Given the description of an element on the screen output the (x, y) to click on. 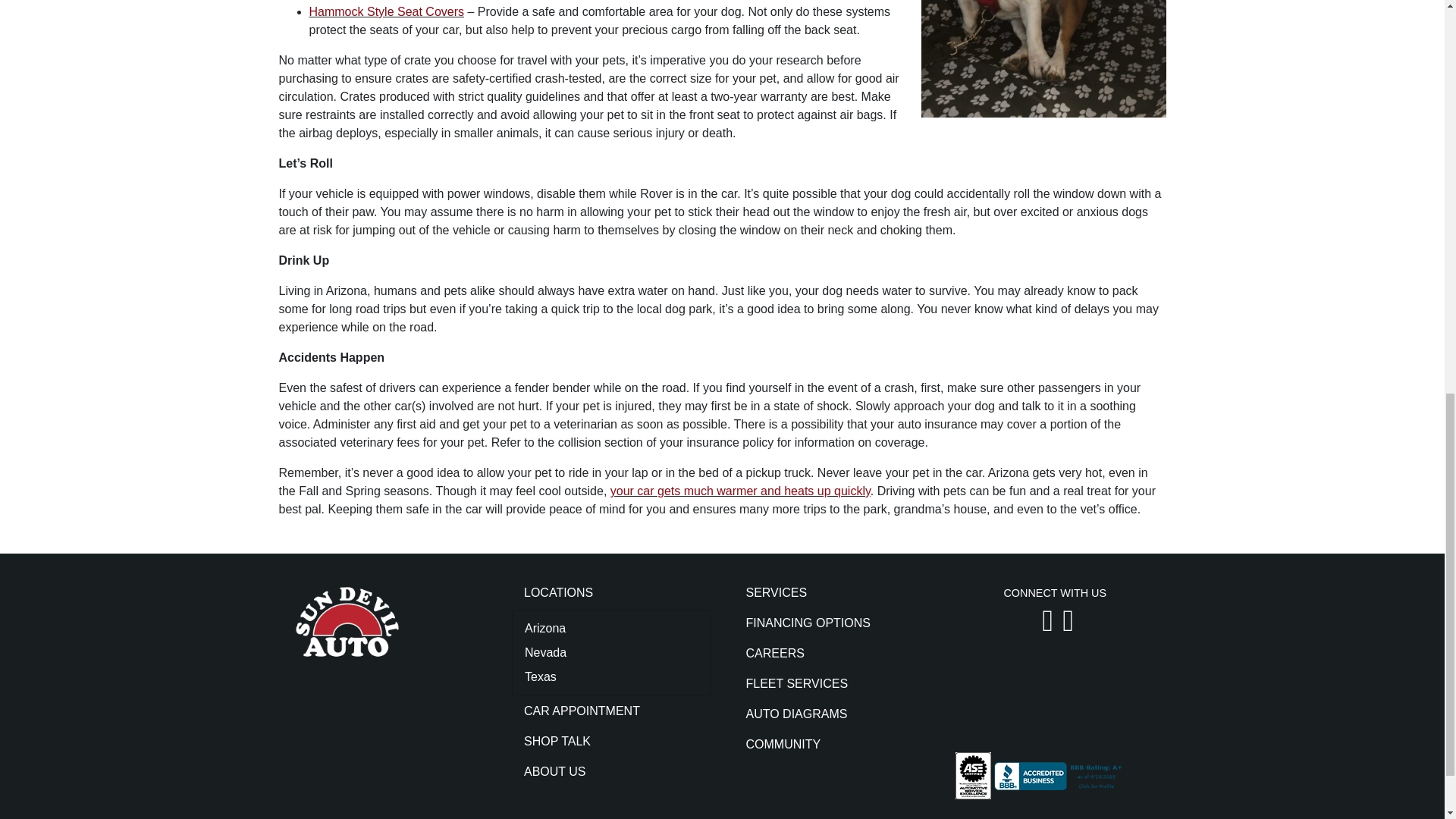
About Us (611, 771)
FINANCING OPTIONS (833, 623)
LOCATIONS (611, 593)
Hammock Style Seat Covers (386, 11)
Shop Talk (611, 741)
CAR APPOINTMENT (611, 711)
ABOUT US (611, 771)
Nevada (611, 652)
AUTO DIAGRAMS (833, 714)
Arizona (611, 628)
FLEET SERVICES (833, 684)
SHOP TALK (611, 741)
Locations (611, 593)
COMMUNITY (833, 744)
SERVICES (833, 593)
